Given the description of an element on the screen output the (x, y) to click on. 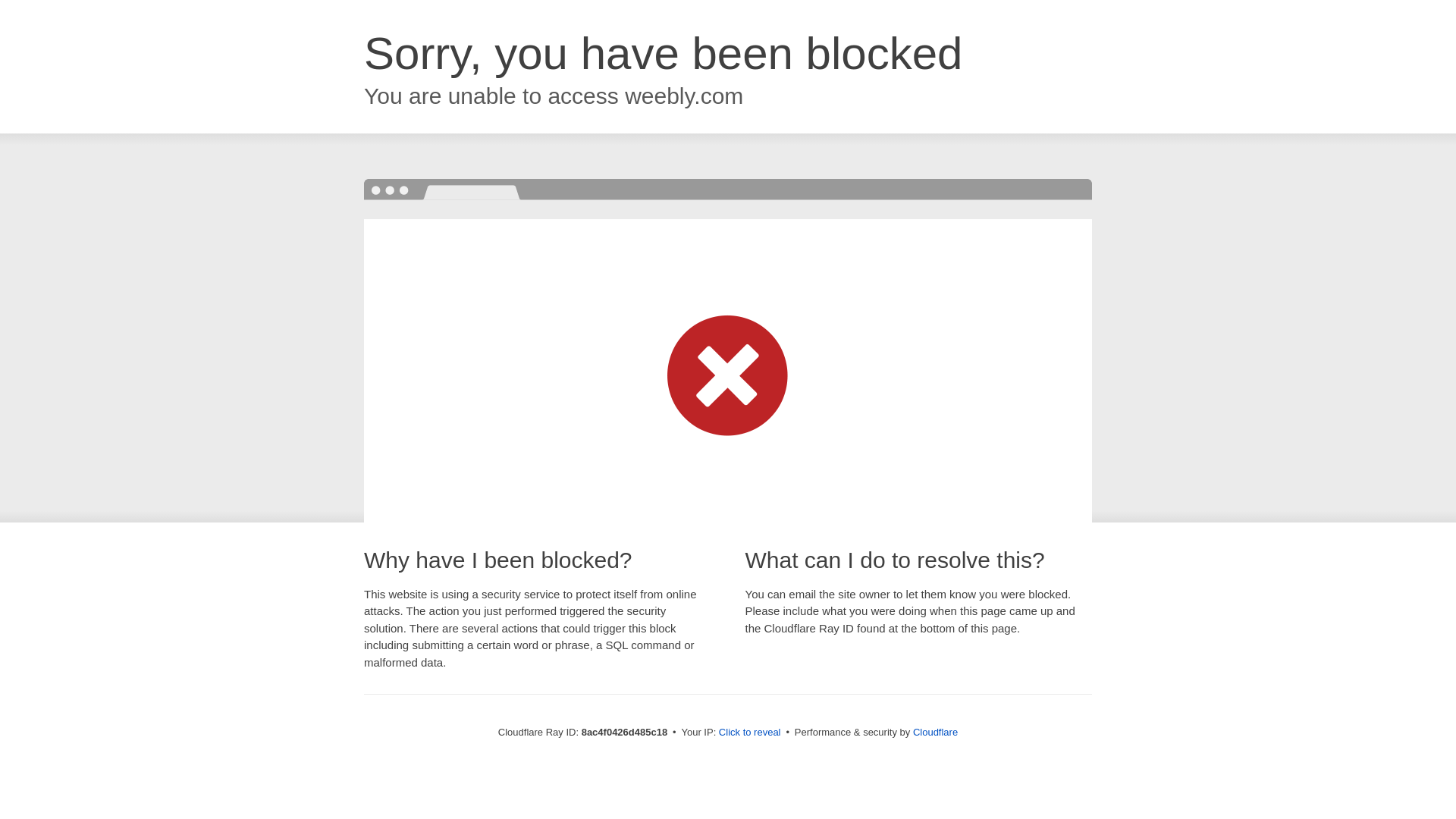
Cloudflare (933, 731)
Click to reveal (747, 732)
